Given the description of an element on the screen output the (x, y) to click on. 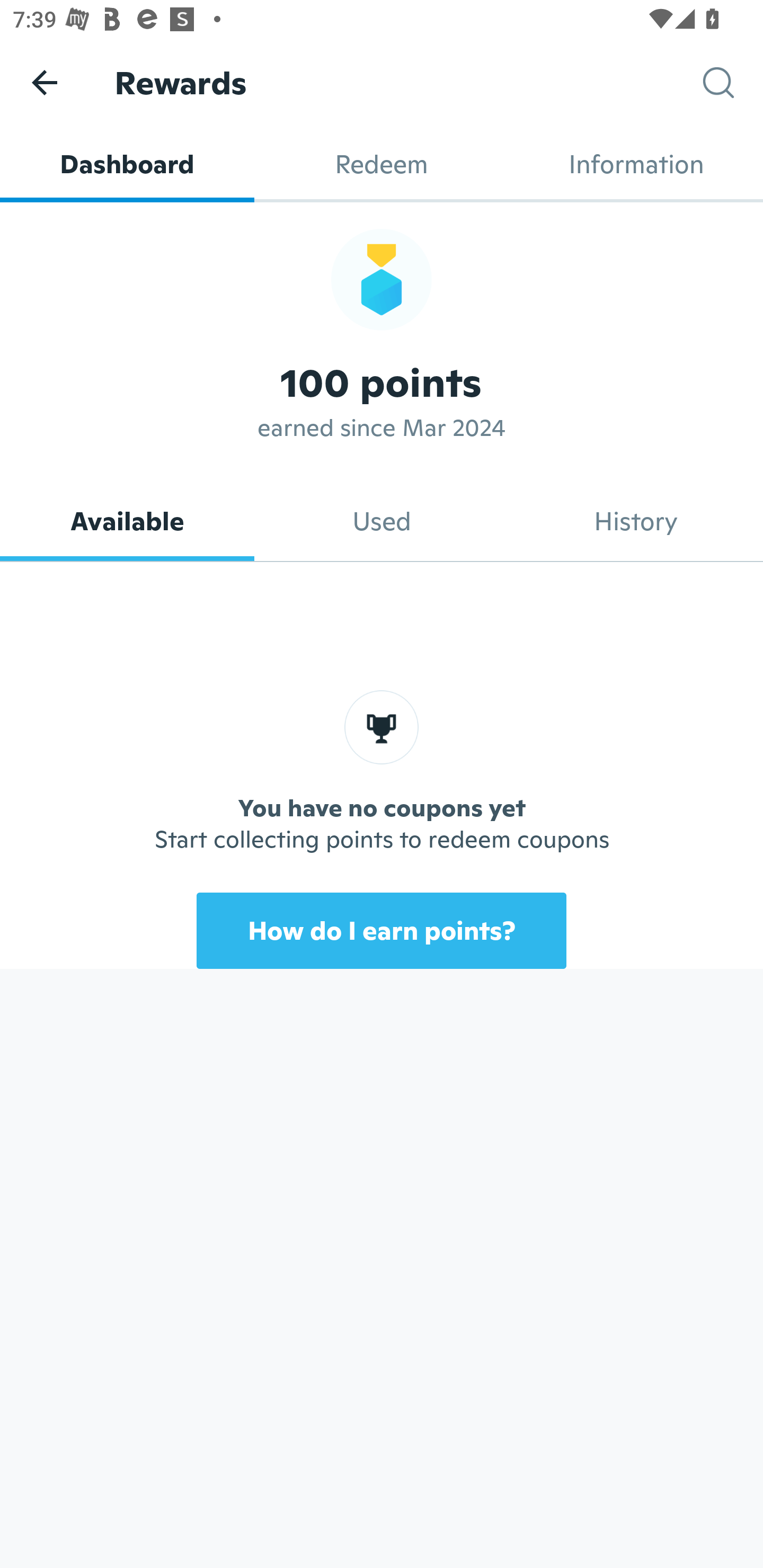
Navigate up (44, 82)
Search (732, 82)
Dashboard (127, 164)
Redeem (381, 164)
Information (635, 164)
Available (127, 520)
Used (381, 520)
History (635, 520)
How do I earn points? (381, 930)
